Given the description of an element on the screen output the (x, y) to click on. 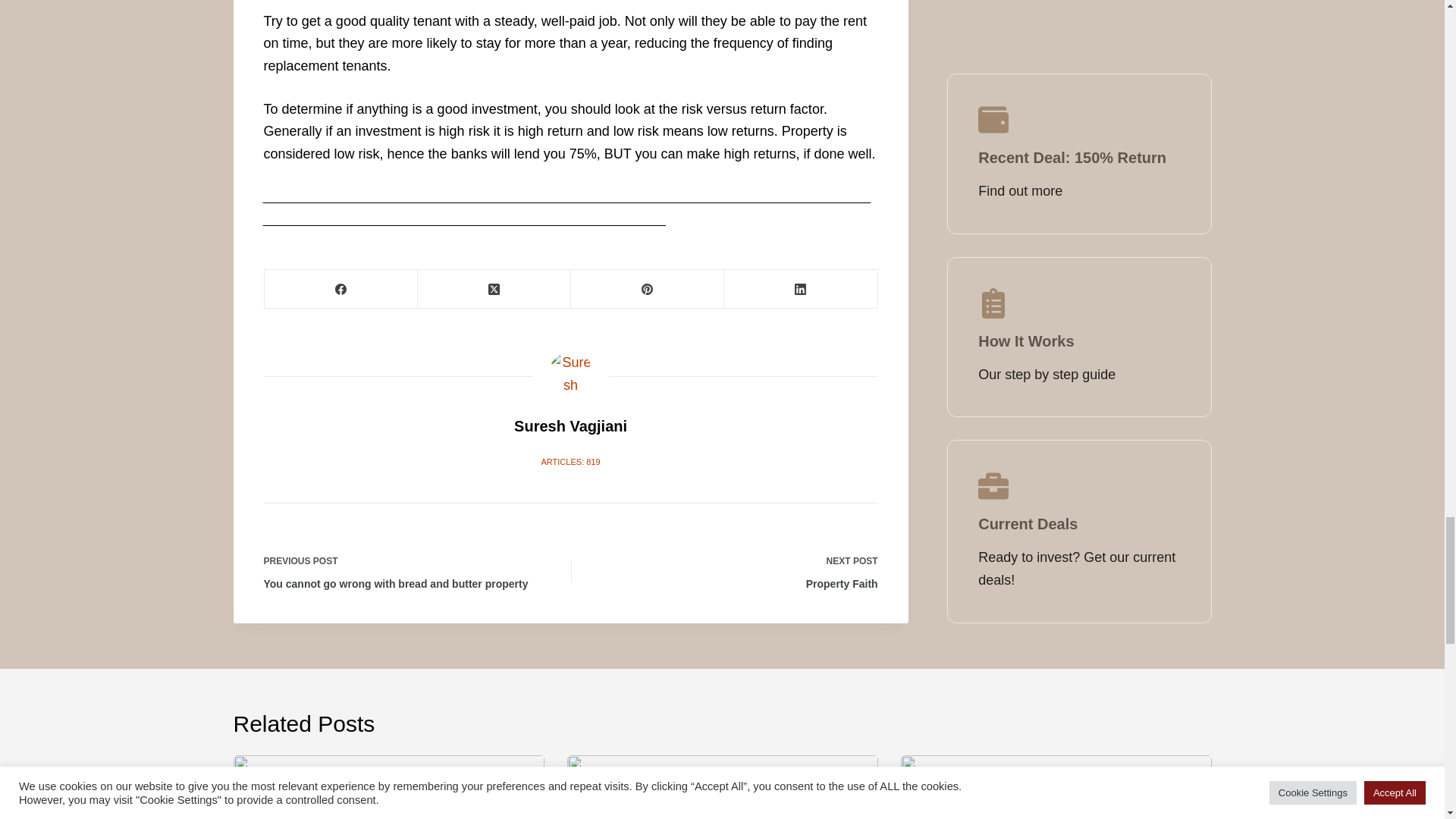
ARTICLES: 819 (736, 570)
